Given the description of an element on the screen output the (x, y) to click on. 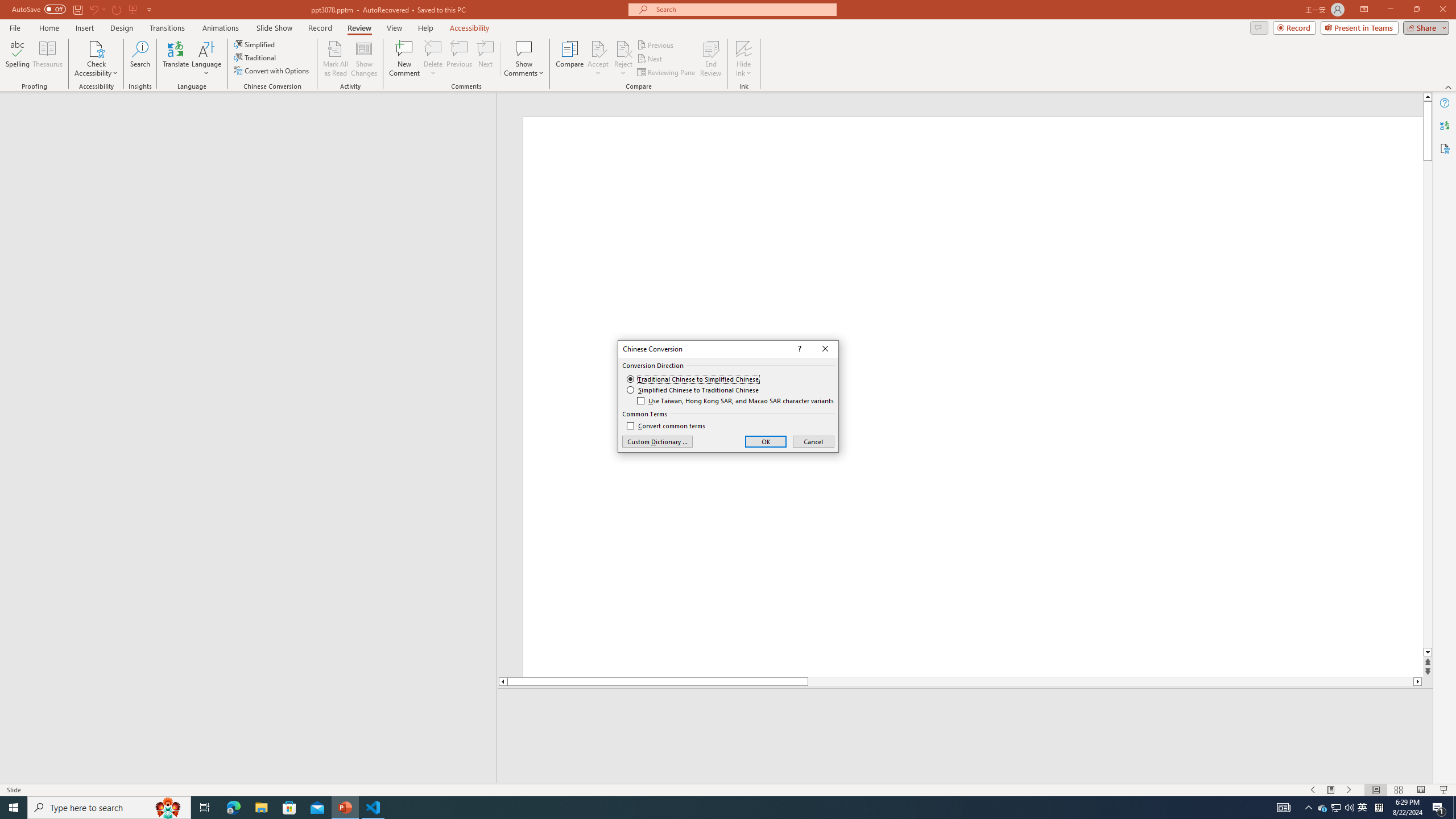
Show Changes (363, 58)
Reviewing Pane (666, 72)
Compare (569, 58)
Translate (175, 58)
